Given the description of an element on the screen output the (x, y) to click on. 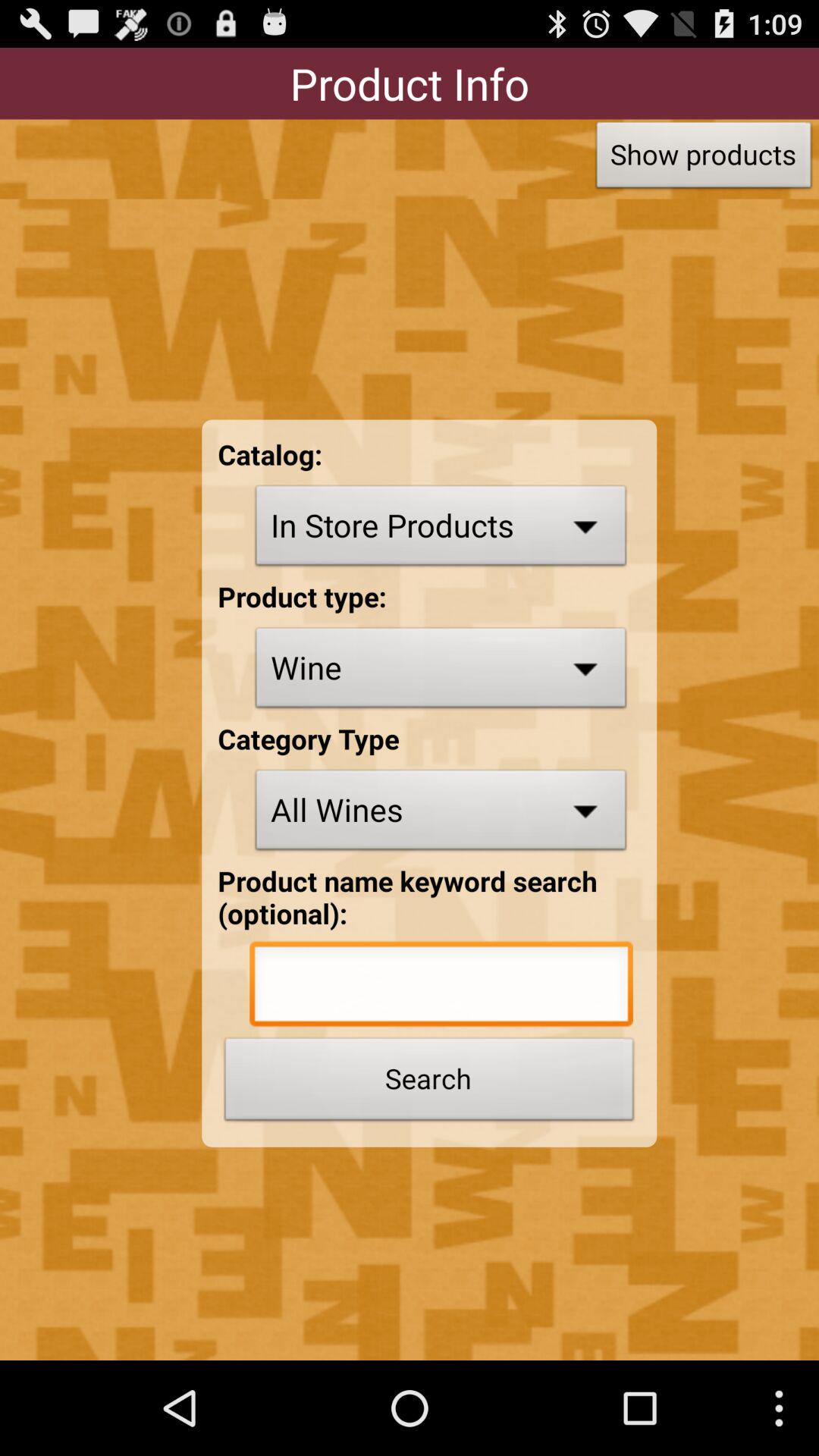
product name keyword search (441, 987)
